Given the description of an element on the screen output the (x, y) to click on. 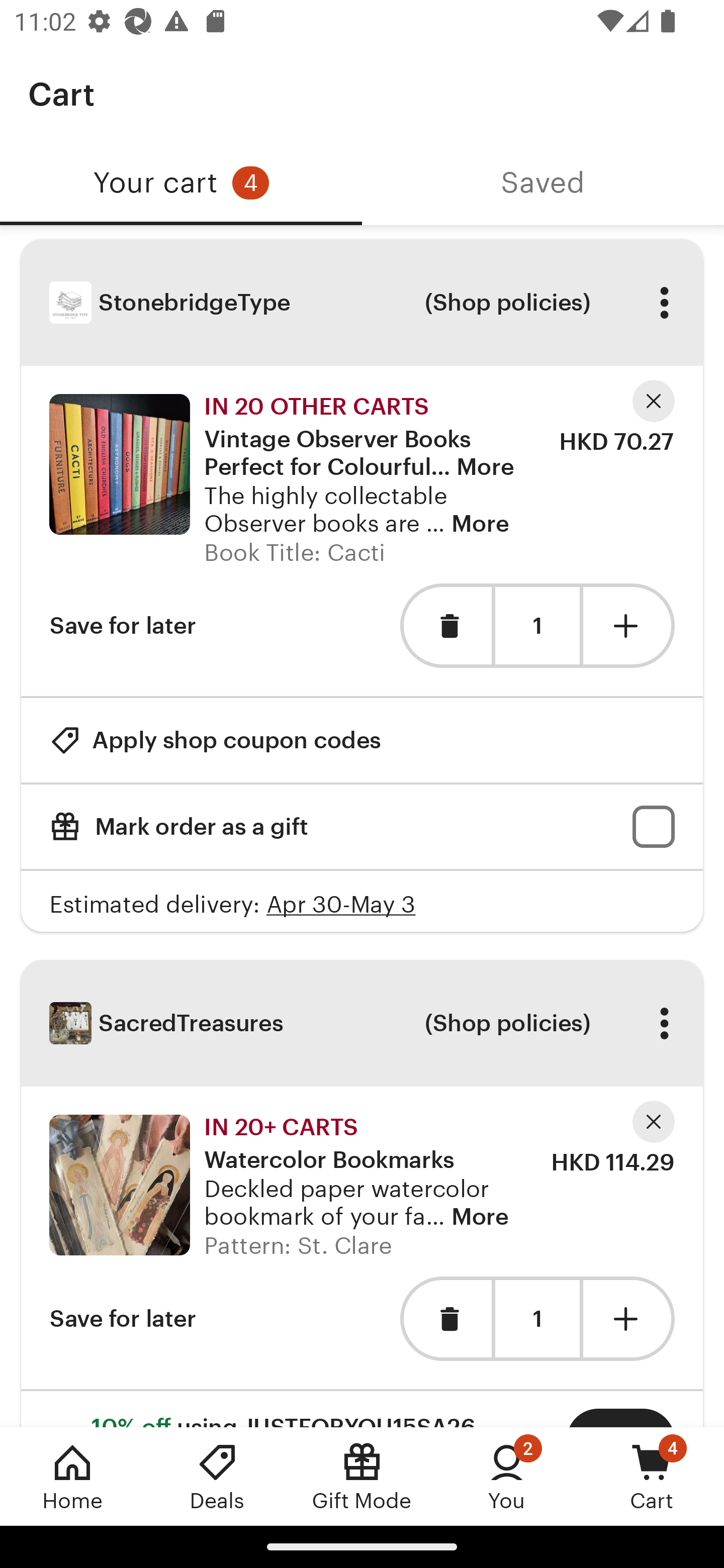
Saved, tab 2 of 2 Saved (543, 183)
StonebridgeType (Shop policies) More options (361, 302)
(Shop policies) (507, 302)
More options (663, 302)
Save for later (122, 625)
Remove item from cart (445, 625)
Add one unit to cart (628, 625)
1 (537, 625)
Apply shop coupon codes (215, 739)
Mark order as a gift (361, 826)
SacredTreasures (Shop policies) More options (361, 1022)
(Shop policies) (507, 1022)
More options (663, 1022)
Watercolor Bookmarks (119, 1184)
Watercolor Bookmarks (329, 1146)
Save for later (122, 1318)
Remove item from cart (445, 1318)
Add one unit to cart (628, 1318)
1 (537, 1318)
Home (72, 1475)
Deals (216, 1475)
Gift Mode (361, 1475)
You, 2 new notifications You (506, 1475)
